Given the description of an element on the screen output the (x, y) to click on. 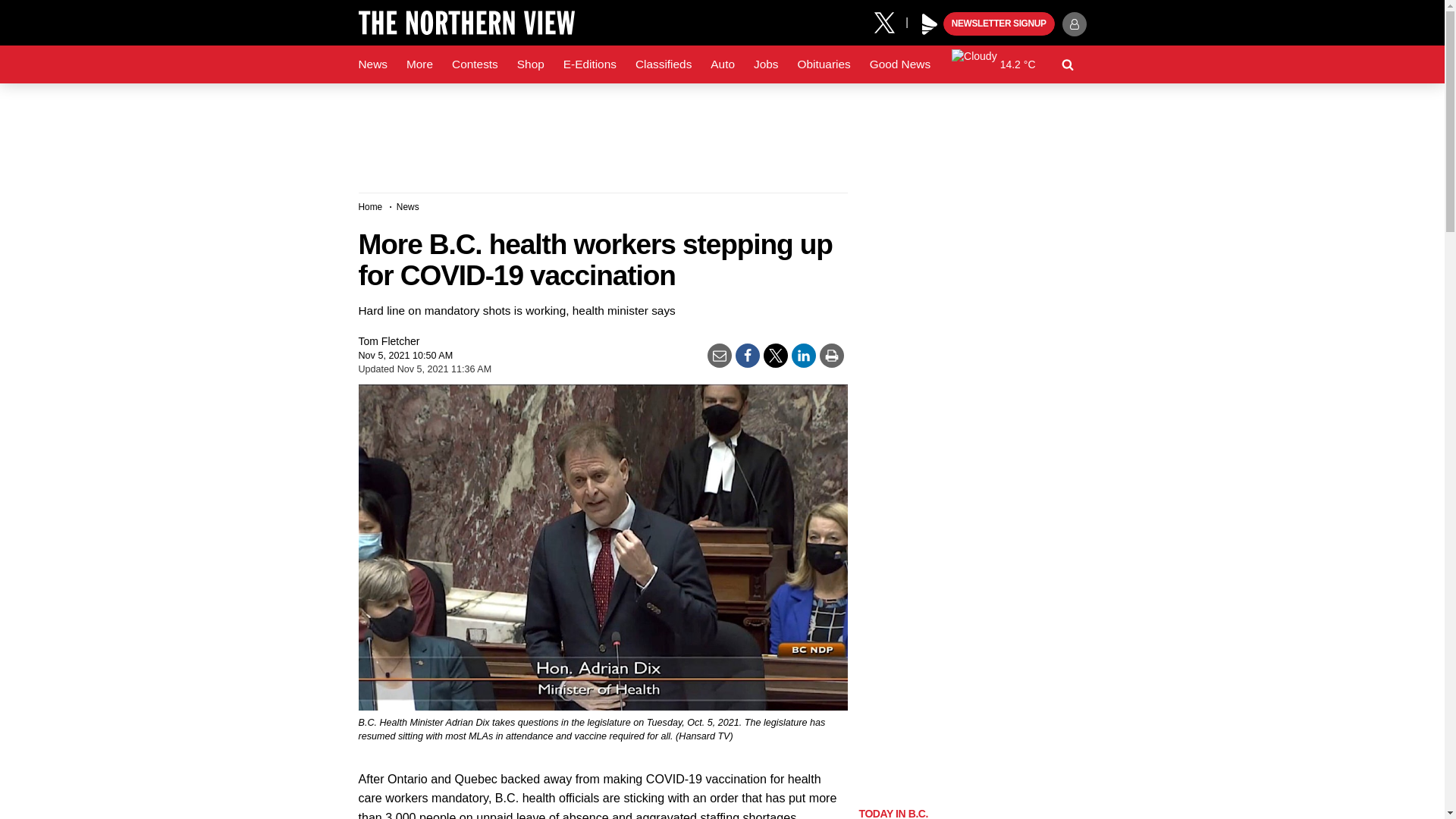
Play (929, 24)
Black Press Media (929, 24)
NEWSLETTER SIGNUP (998, 24)
News (372, 64)
X (889, 21)
